Given the description of an element on the screen output the (x, y) to click on. 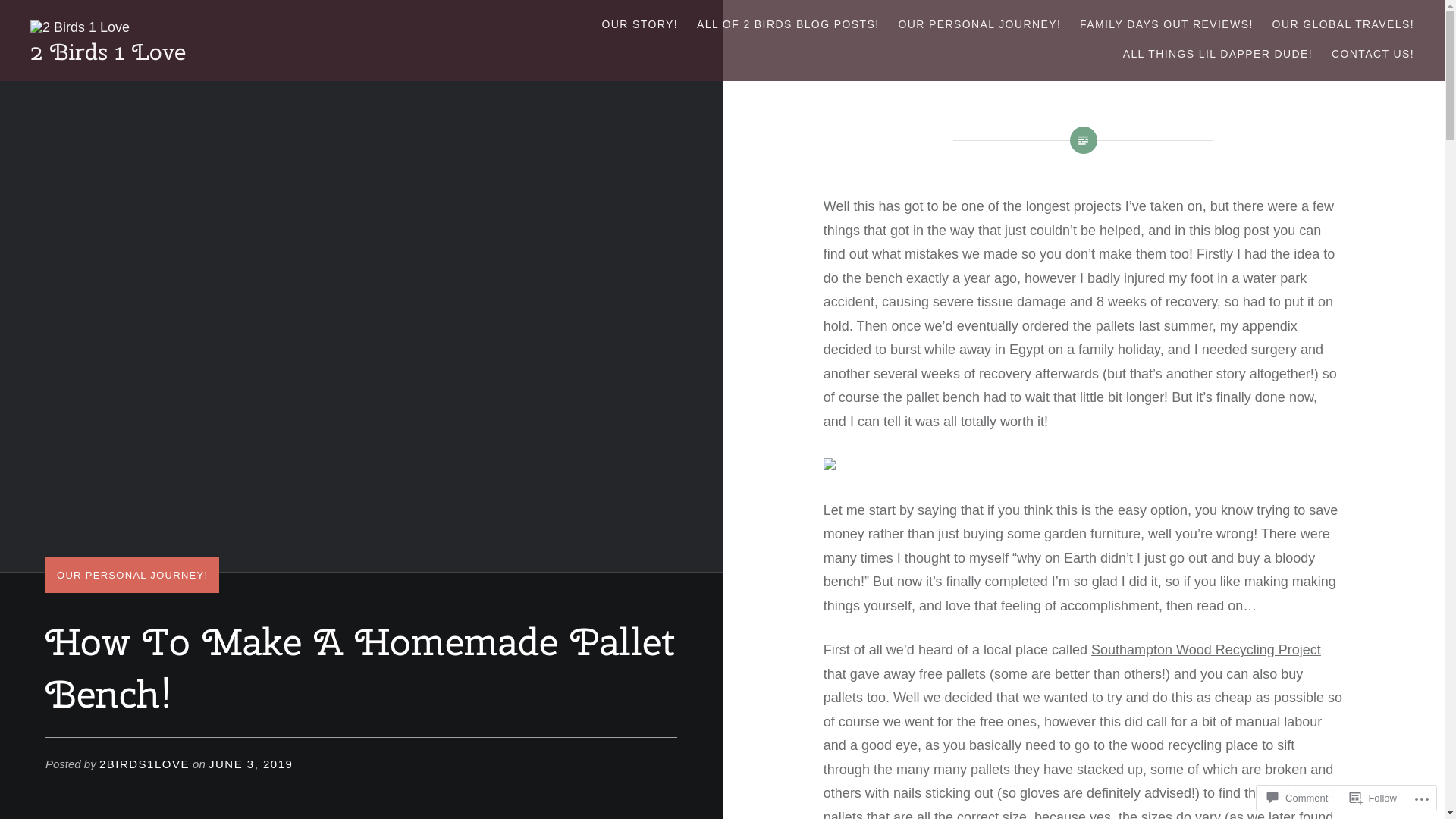
2 Birds 1 Love Element type: text (107, 51)
OUR PERSONAL JOURNEY! Element type: text (131, 574)
OUR GLOBAL TRAVELS! Element type: text (1343, 24)
ALL THINGS LIL DAPPER DUDE! Element type: text (1217, 53)
Southampton Wood Recycling Project Element type: text (1206, 649)
Comment Element type: text (1297, 797)
OUR PERSONAL JOURNEY! Element type: text (978, 24)
FAMILY DAYS OUT REVIEWS! Element type: text (1166, 24)
JUNE 3, 2019 Element type: text (250, 763)
ALL OF 2 BIRDS BLOG POSTS! Element type: text (787, 24)
CONTACT US! Element type: text (1372, 53)
OUR STORY! Element type: text (639, 24)
Follow Element type: text (1372, 797)
2BIRDS1LOVE Element type: text (144, 763)
